Given the description of an element on the screen output the (x, y) to click on. 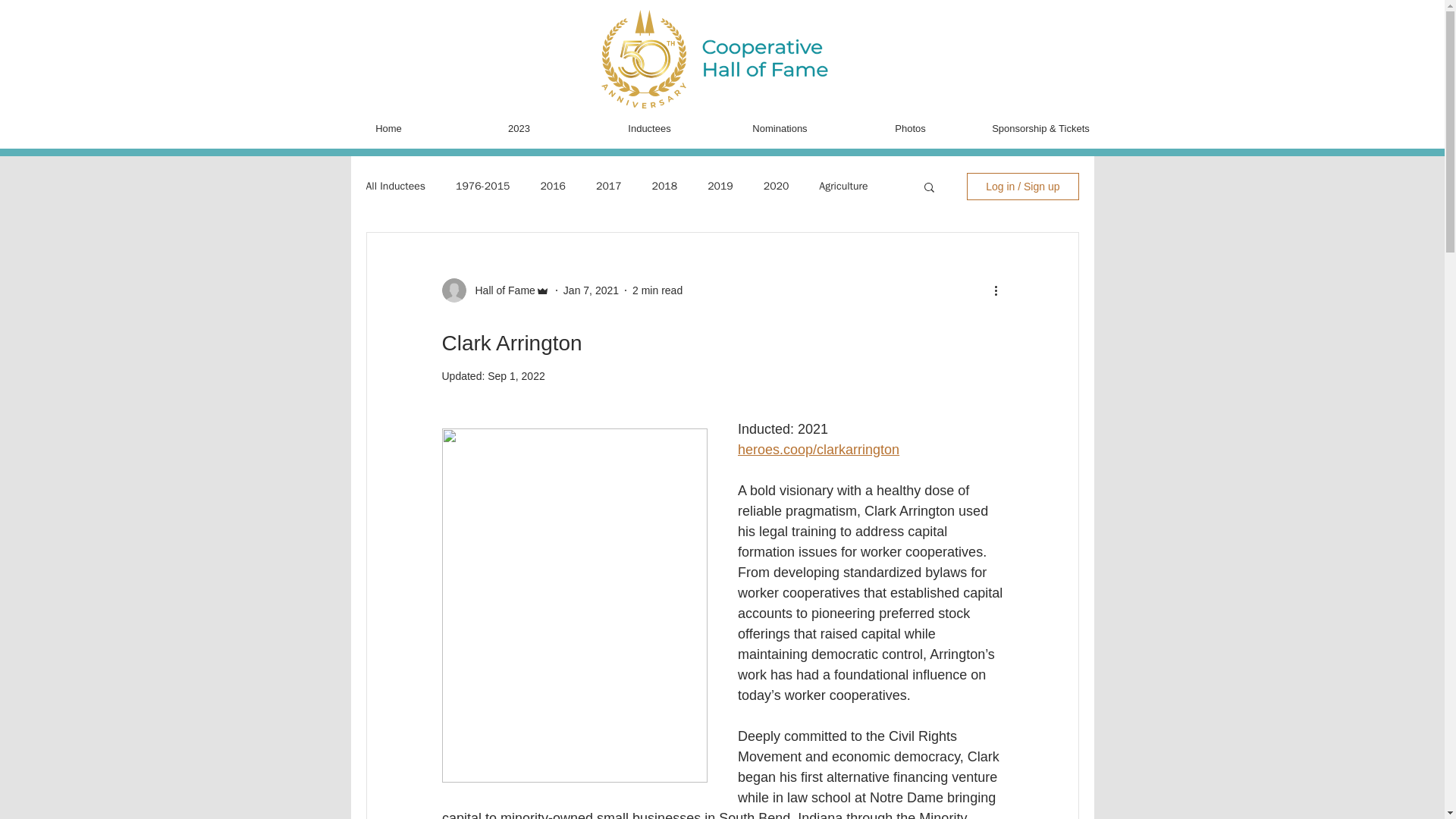
Inductees (649, 128)
2018 (665, 186)
Home (387, 128)
2 min read (656, 289)
Hall of Fame (499, 289)
Jan 7, 2021 (590, 289)
All Inductees (395, 186)
2020 (775, 186)
Agriculture (842, 186)
Sep 1, 2022 (515, 376)
Photos (909, 128)
2016 (553, 186)
2019 (720, 186)
Nominations (779, 128)
1976-2015 (482, 186)
